Given the description of an element on the screen output the (x, y) to click on. 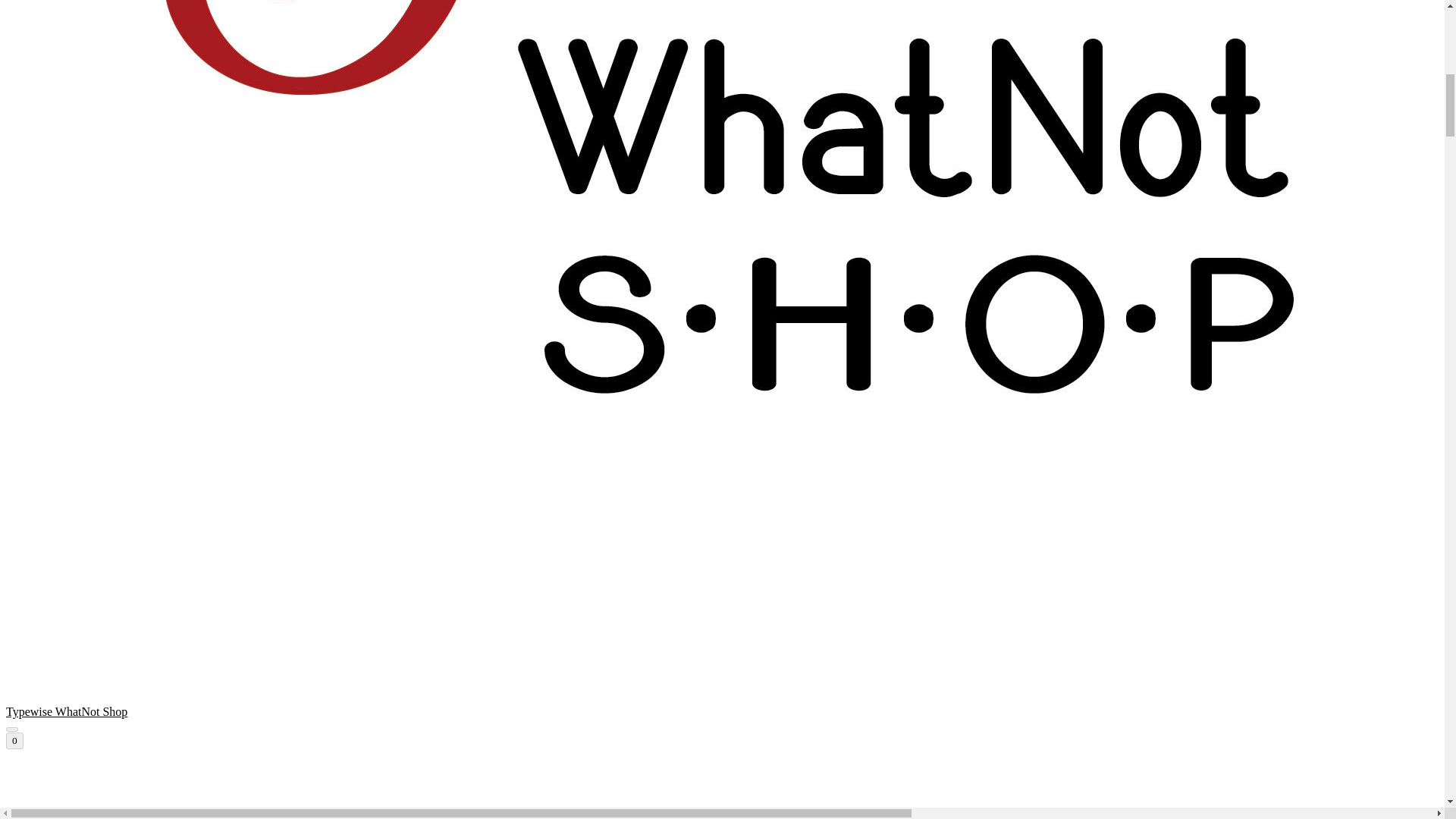
Typewise WhatNot Shop (721, 791)
0 (14, 740)
